Given the description of an element on the screen output the (x, y) to click on. 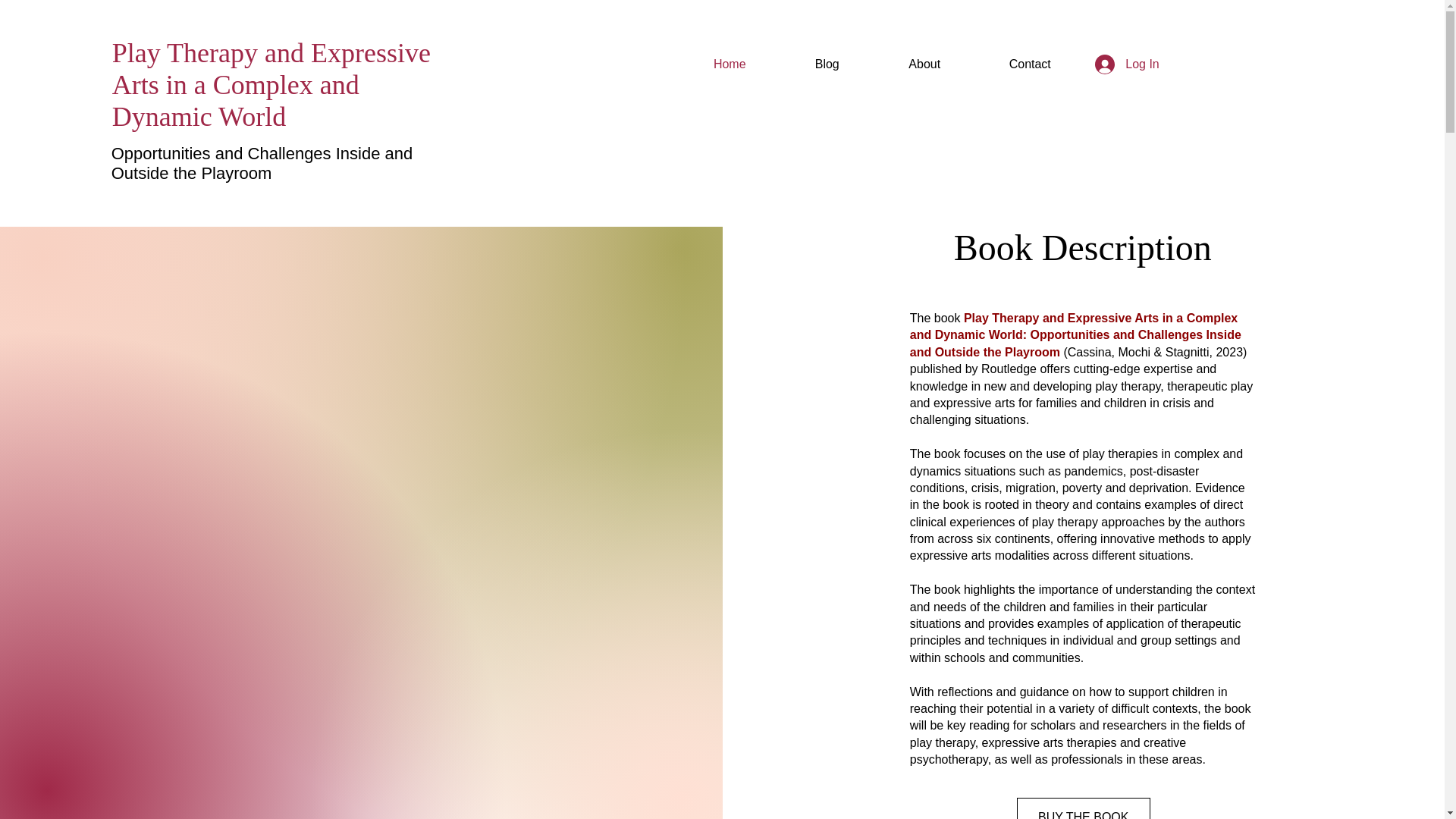
Home (729, 64)
Opportunities and Challenges Inside and Outside the Playroom (262, 163)
Contact (1029, 64)
About (924, 64)
BUY THE BOOK (1083, 808)
Blog (826, 64)
Log In (1116, 63)
